Given the description of an element on the screen output the (x, y) to click on. 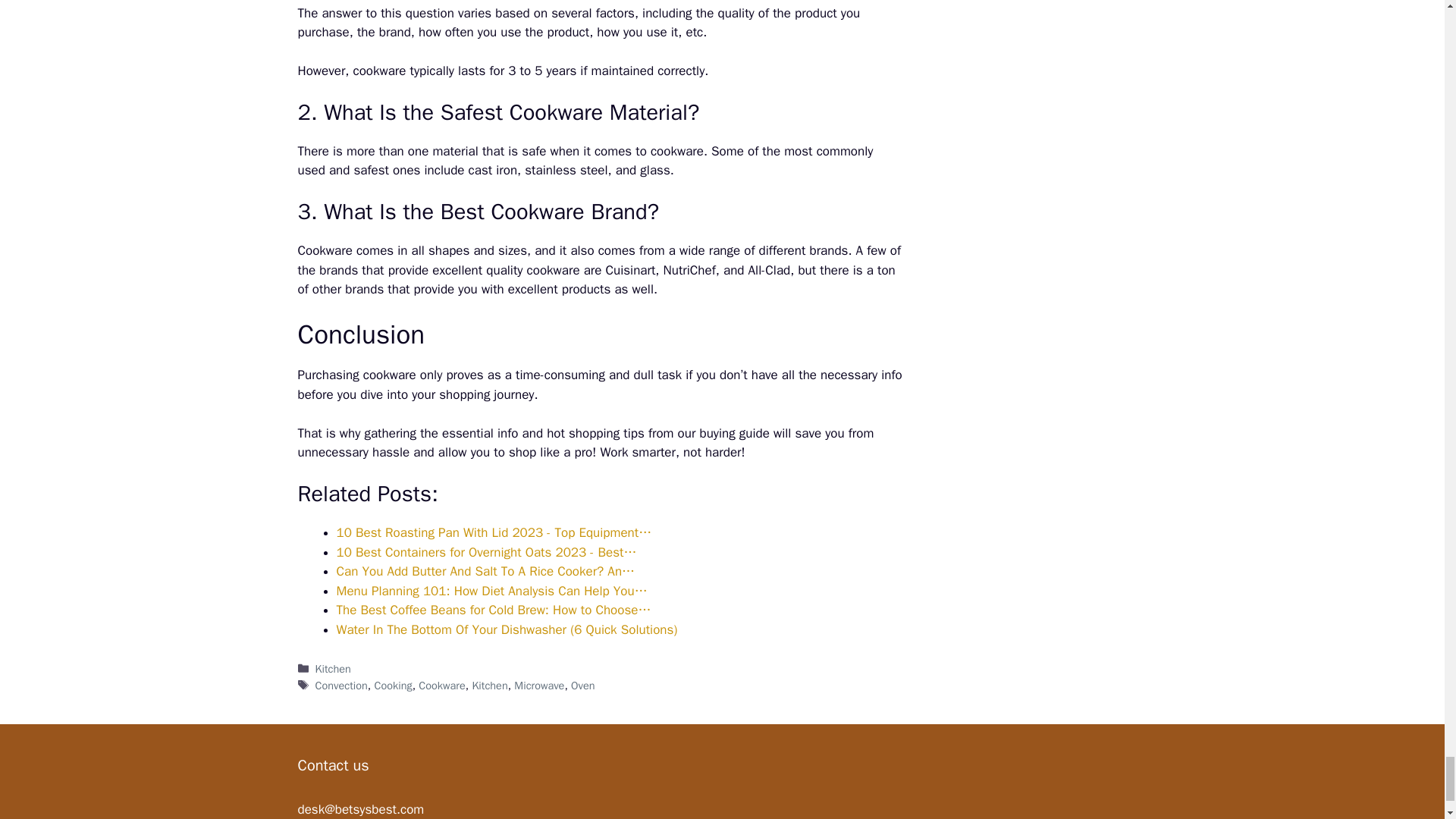
Oven (582, 685)
Cooking (393, 685)
Convection (341, 685)
Kitchen (332, 668)
Cookware (441, 685)
Kitchen (488, 685)
Microwave (538, 685)
